Given the description of an element on the screen output the (x, y) to click on. 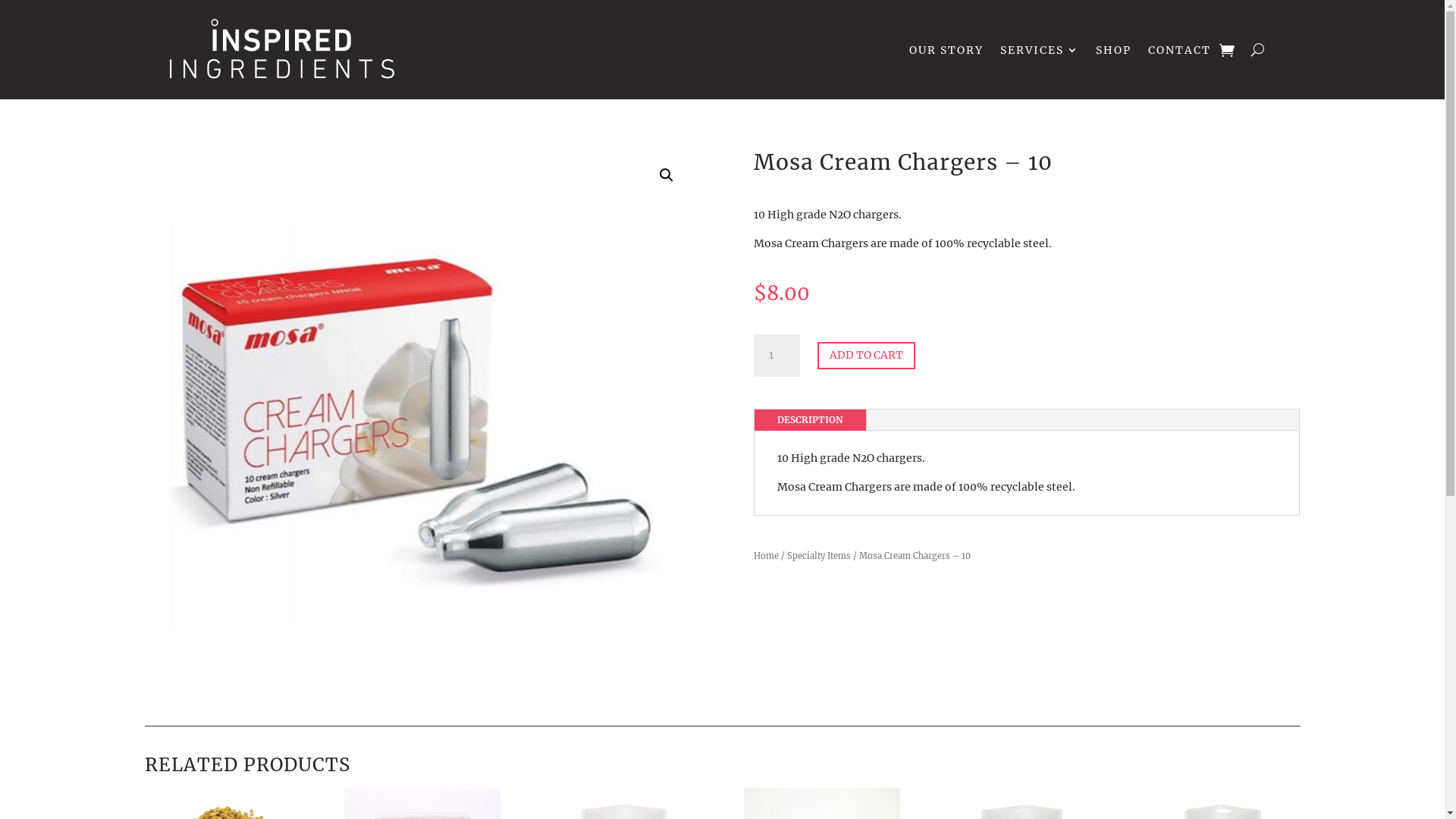
CONTACT Element type: text (1179, 49)
DESCRIPTION Element type: text (810, 419)
SHOP Element type: text (1112, 49)
OUR STORY Element type: text (945, 49)
ADD TO CART Element type: text (866, 355)
SERVICES Element type: text (1038, 49)
Specialty Items Element type: text (818, 555)
Home Element type: text (765, 555)
charges Element type: hover (417, 423)
